Given the description of an element on the screen output the (x, y) to click on. 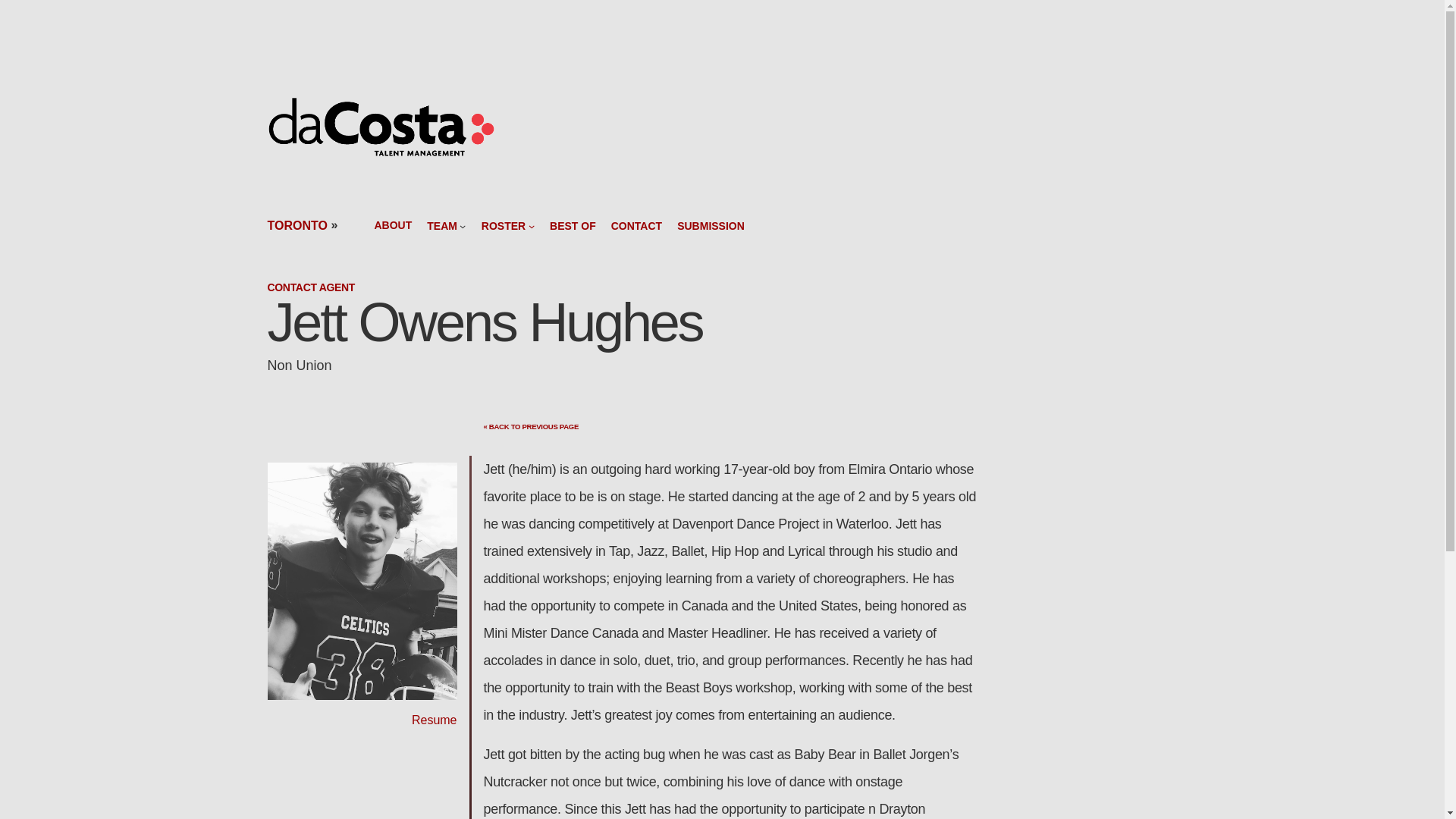
CONTACT AGENT (310, 287)
BEST OF (572, 225)
ABOUT (393, 225)
TEAM (441, 225)
ROSTER (503, 225)
Resume (434, 719)
CONTACT (636, 225)
SUBMISSION (710, 225)
TORONTO (296, 225)
Firstname Lastname (361, 581)
